Given the description of an element on the screen output the (x, y) to click on. 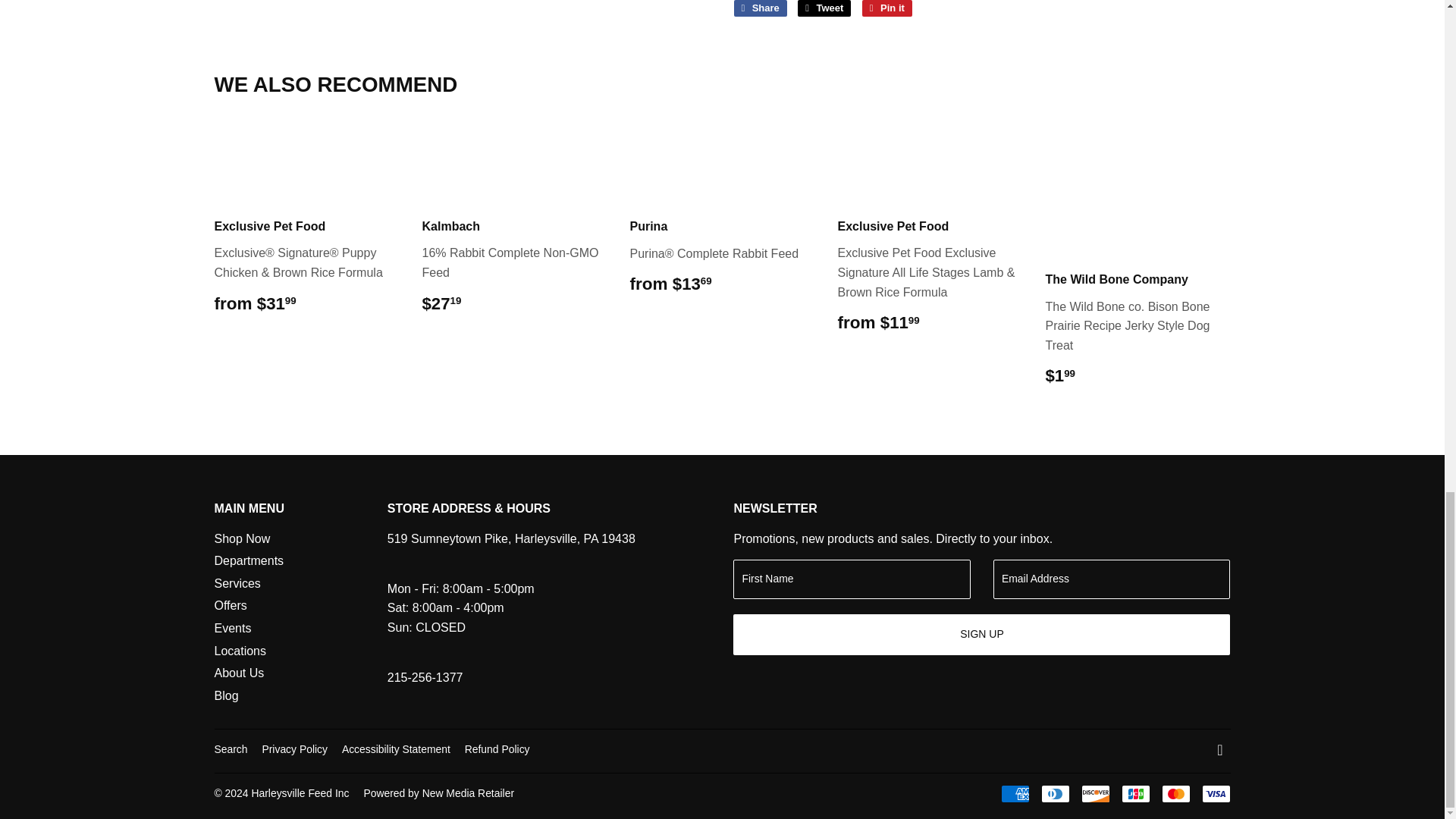
tel: 215-256-1377 (425, 676)
Mastercard (1176, 793)
Share on Facebook (760, 8)
Diners Club (1054, 793)
American Express (1015, 793)
JCB (1135, 793)
Visa (1215, 793)
Tweet on Twitter (823, 8)
Pin on Pinterest (886, 8)
Discover (1095, 793)
